Given the description of an element on the screen output the (x, y) to click on. 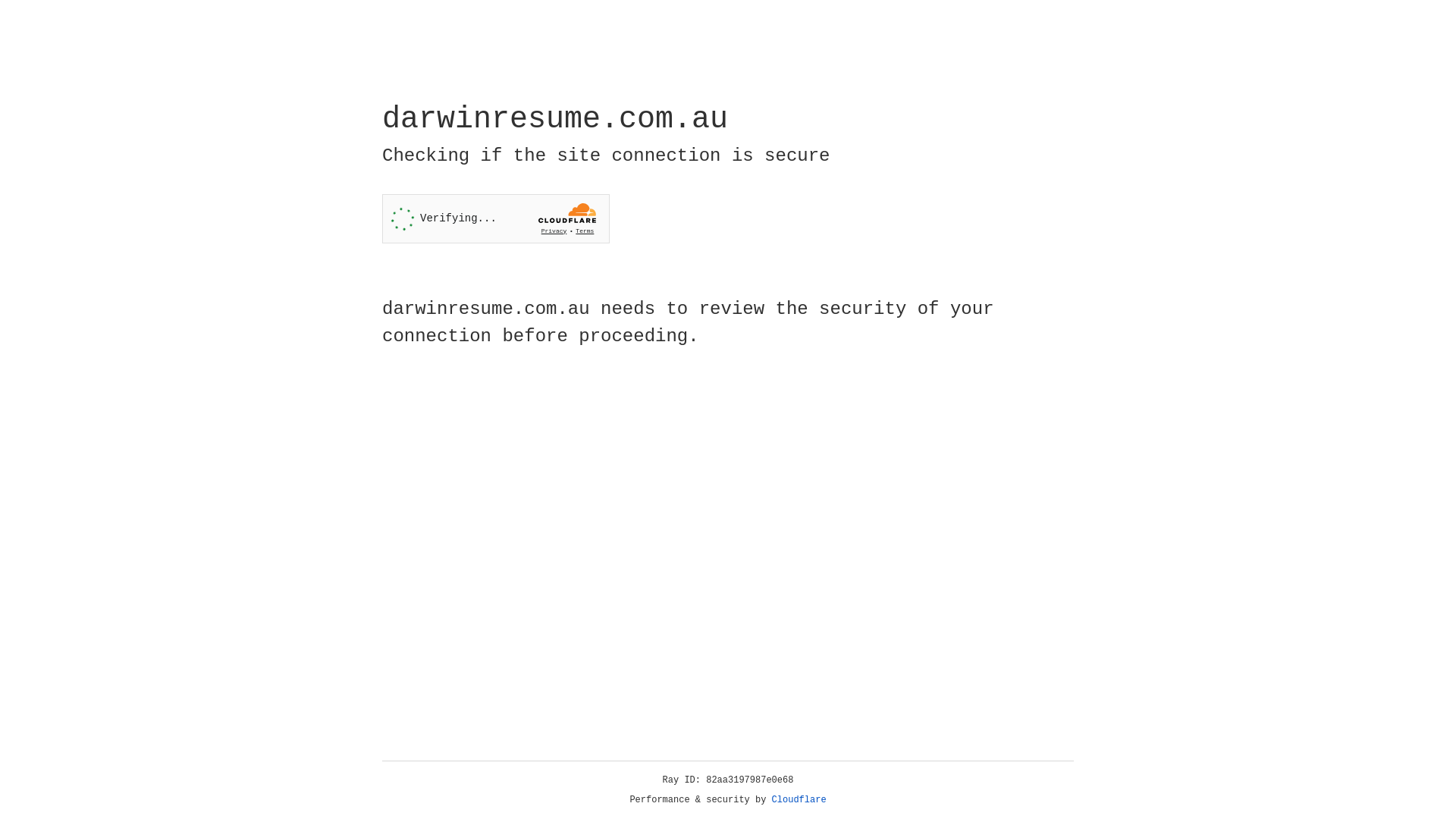
Cloudflare Element type: text (798, 799)
Widget containing a Cloudflare security challenge Element type: hover (495, 218)
